Given the description of an element on the screen output the (x, y) to click on. 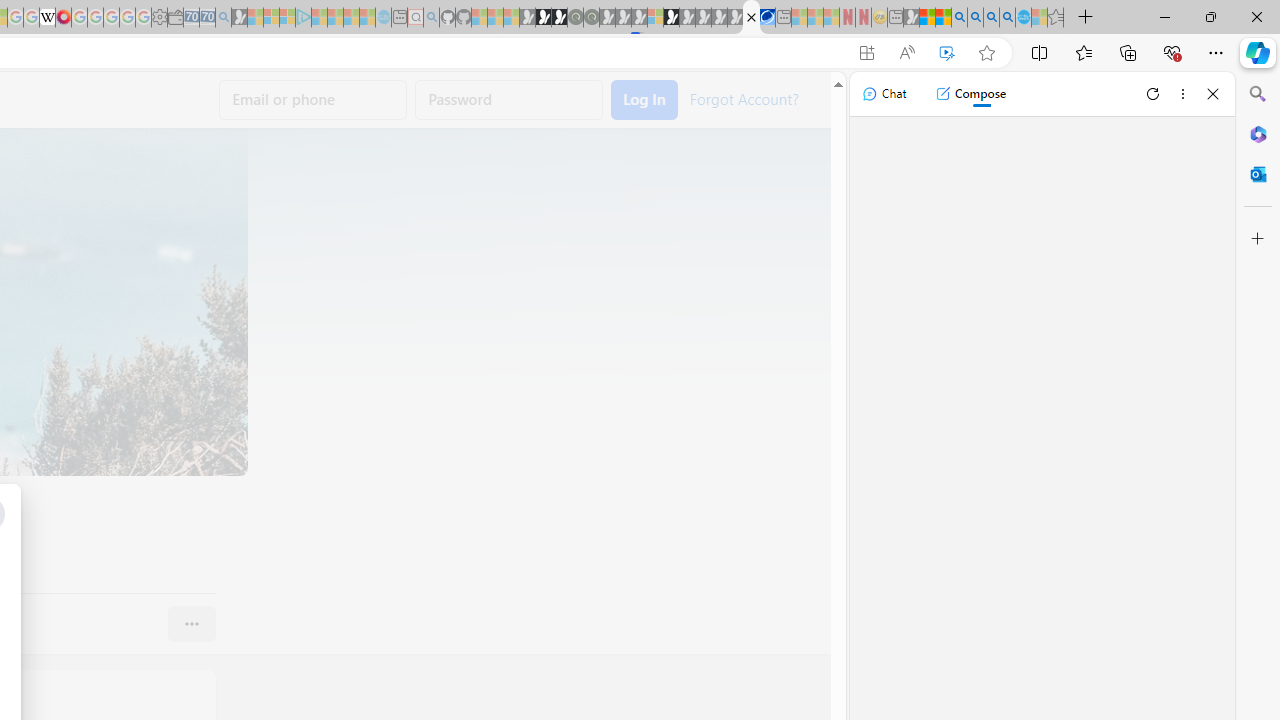
MSN - Sleeping (911, 17)
Password (509, 99)
Google Chrome Internet Browser Download - Search Images (1007, 17)
